Given the description of an element on the screen output the (x, y) to click on. 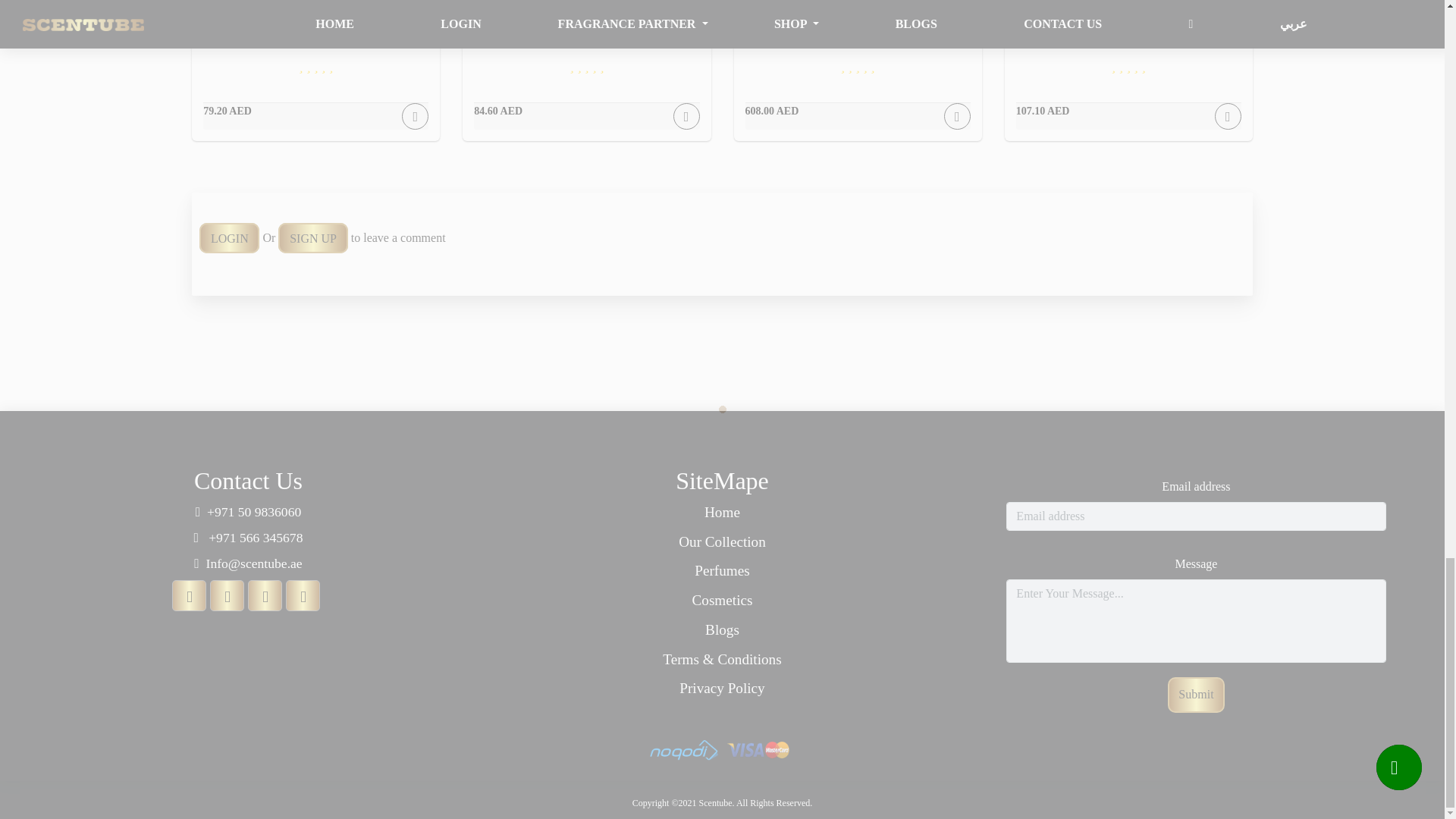
Perfumes (721, 571)
Our Collection (857, 70)
Home (721, 542)
LOGIN (721, 513)
Cosmetics (229, 237)
SIGN UP (721, 600)
